Given the description of an element on the screen output the (x, y) to click on. 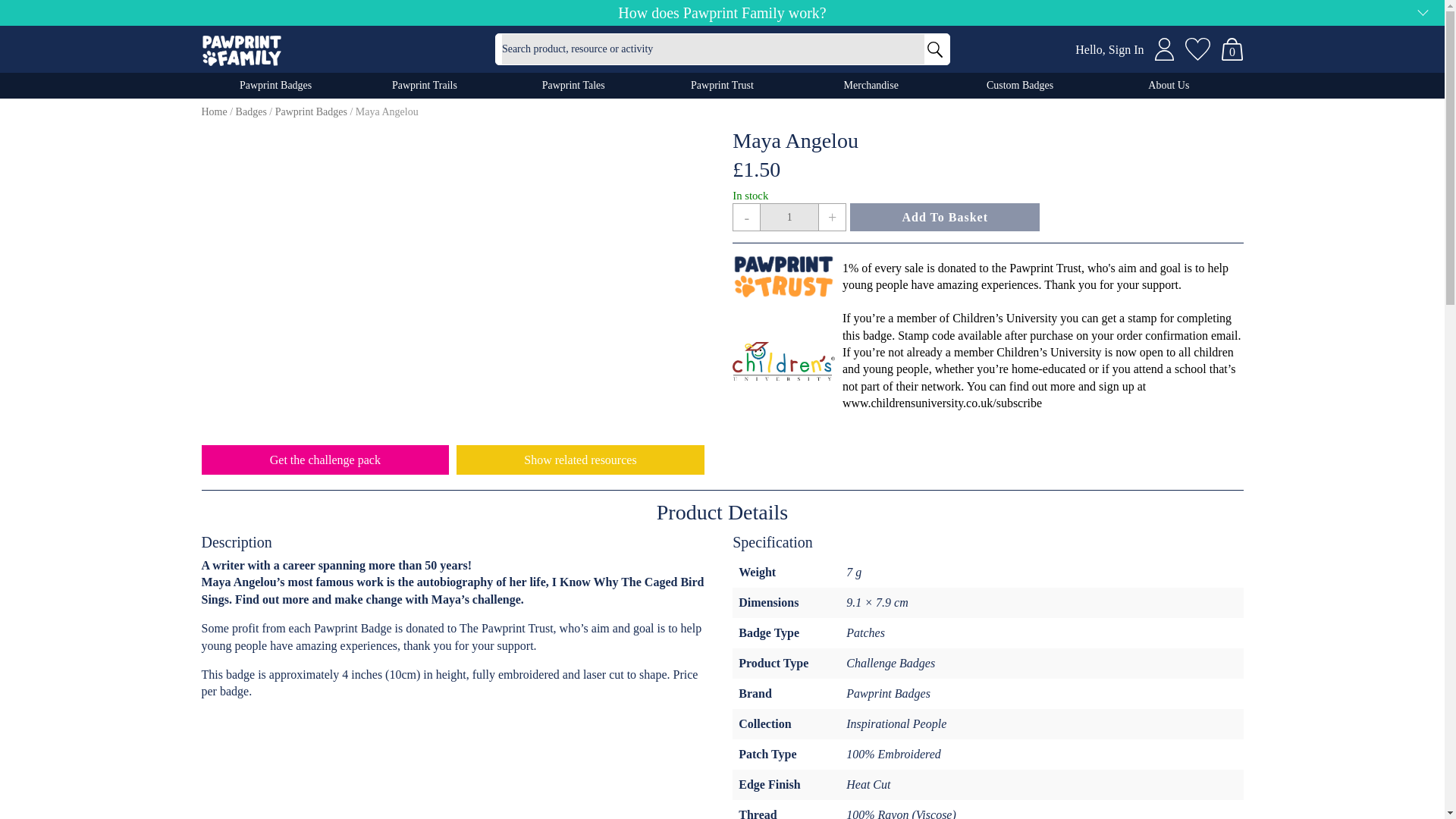
Hello, Sign In (1108, 49)
Pawprint Trails (424, 85)
1 (789, 216)
Pawprint Tales (573, 85)
Qty (789, 216)
Pawprint Badges (276, 85)
